Given the description of an element on the screen output the (x, y) to click on. 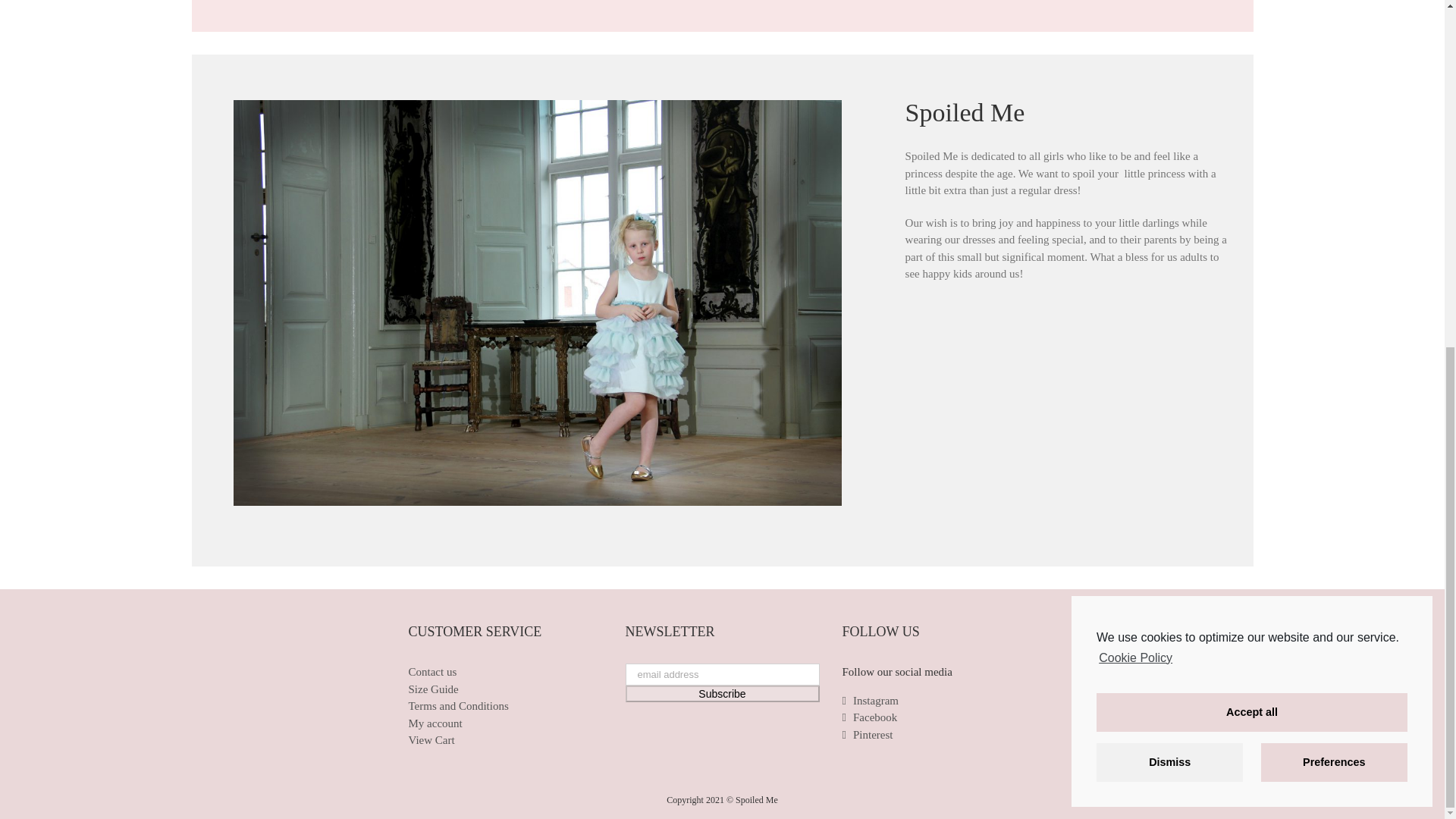
Subscribe (721, 693)
Terms and Conditions (504, 705)
Subscribe (721, 693)
Pinterest (938, 734)
Contact us (504, 671)
My account (504, 723)
View Cart (504, 740)
Instagram (938, 701)
Size Guide (504, 689)
Facebook (938, 717)
